Given the description of an element on the screen output the (x, y) to click on. 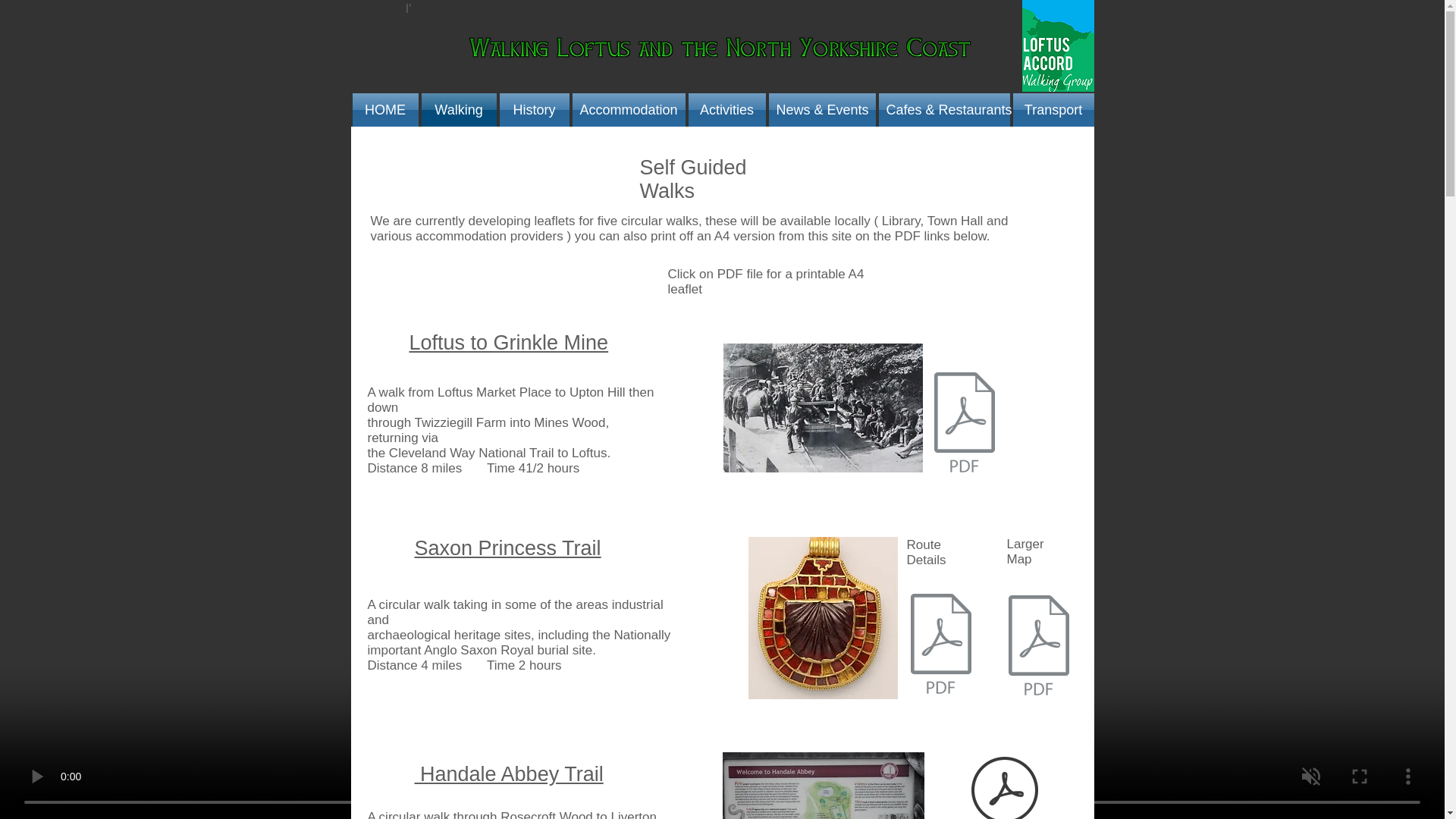
Accommodation (627, 109)
 Handale Abbey Trail (507, 773)
HOME (385, 109)
Transport (1052, 109)
Handale Abbey Trail new.pdf (1005, 785)
Walking (458, 109)
History (533, 109)
Activities (727, 109)
Loftus to Grinkle Mine (508, 342)
Saxon Princess Trail (506, 548)
